Given the description of an element on the screen output the (x, y) to click on. 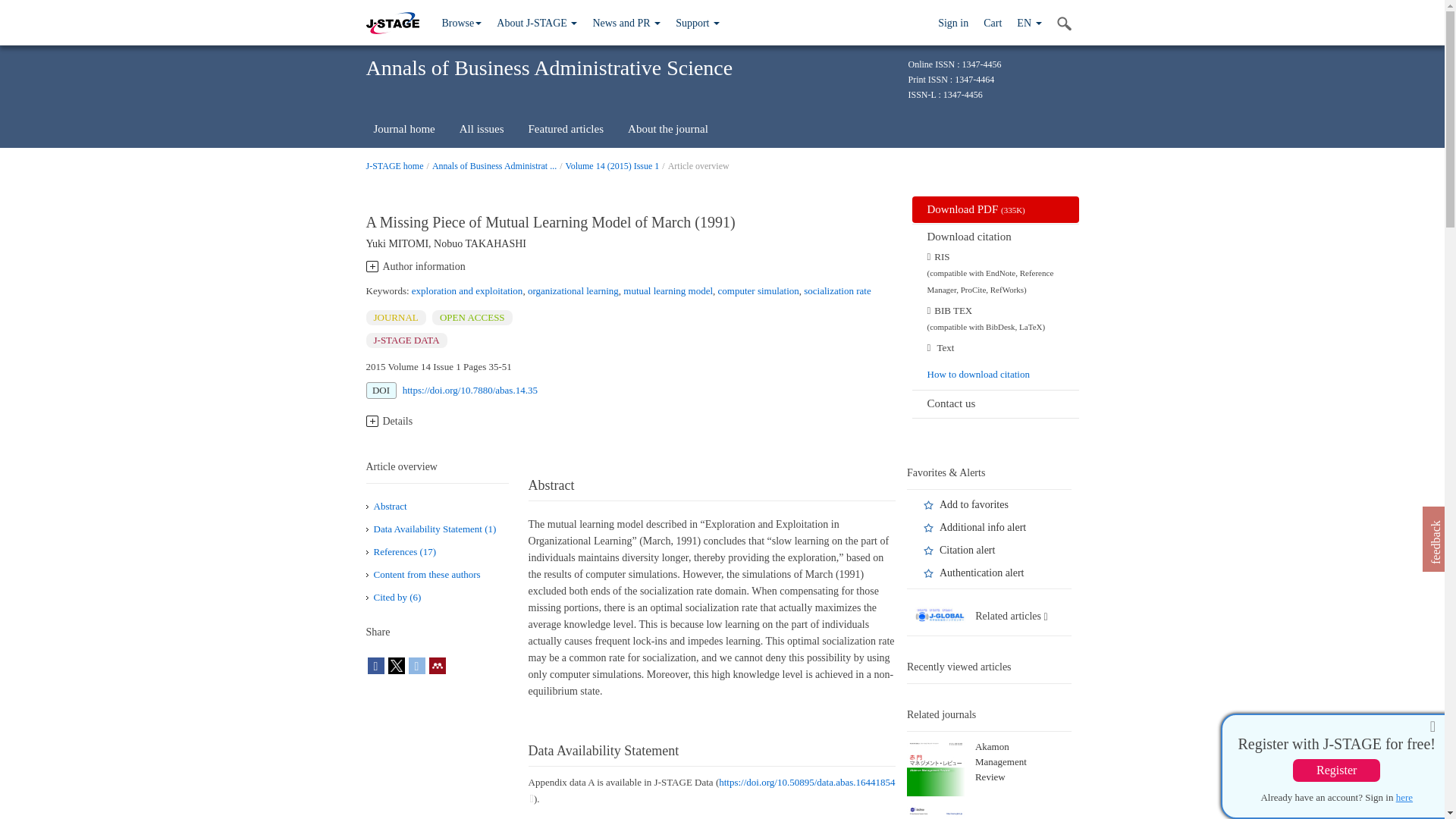
Annals of Business Administrative Science (494, 165)
References (403, 551)
Abstract (389, 505)
Data Availability Statement (434, 528)
Cited by (396, 596)
Content from these authors (426, 573)
OPEN ACCESS (472, 317)
JOURNAL (395, 317)
Browse (461, 22)
About J-STAGE (537, 22)
J-STAGE Data (405, 340)
